Given the description of an element on the screen output the (x, y) to click on. 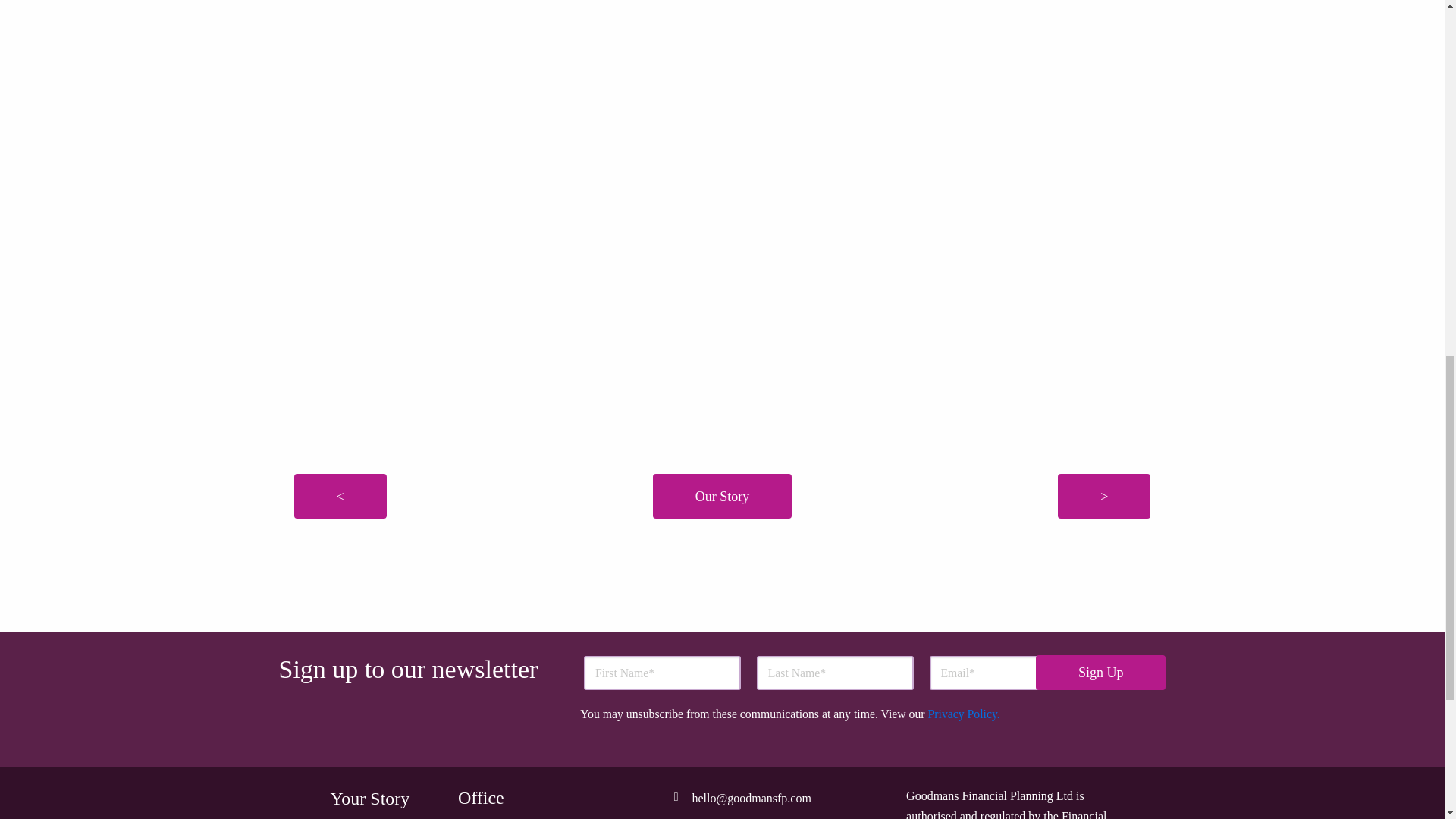
Your Story (369, 798)
Sign up (1100, 673)
Our Story (722, 496)
Sign up (1100, 673)
Our Story (365, 815)
Privacy Policy. (964, 713)
